Given the description of an element on the screen output the (x, y) to click on. 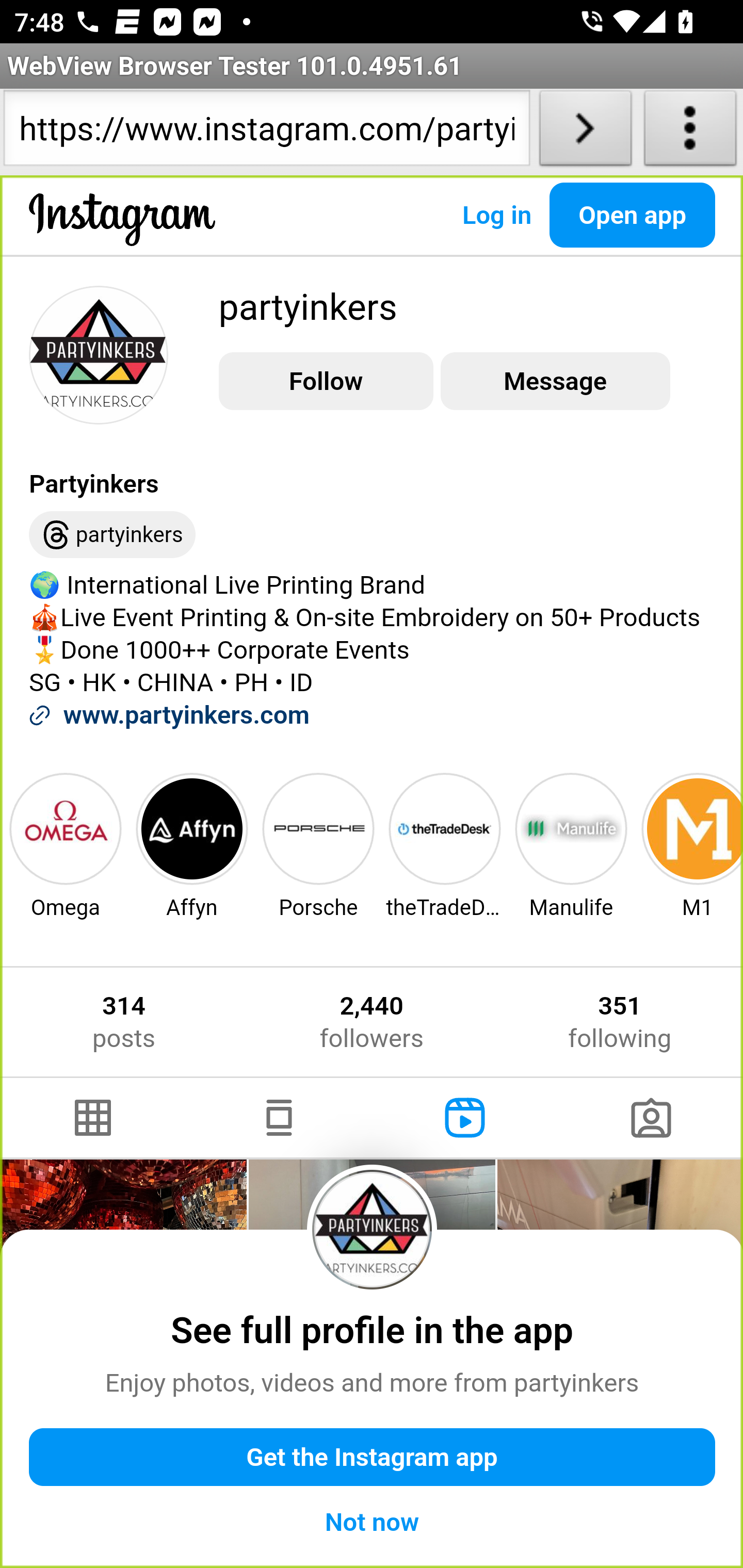
Load URL (585, 132)
About WebView (690, 132)
Log in (495, 214)
Open app (632, 214)
Instagram Instagram Instagram Instagram (122, 234)
partyinkers's profile picture (98, 353)
Follow (325, 381)
Message (554, 381)
Threads partyinkers Threads partyinkers (112, 535)
www.partyinkers.com (185, 714)
M1's profile picture M1 M1's profile picture M1 (690, 844)
314 posts (124, 1021)
2,440 followers (371, 1021)
351 following (619, 1021)
Posts (93, 1117)
Feed (278, 1117)
Reels (465, 1117)
Tagged (649, 1117)
partyinkers's profile picture (372, 1229)
Get the Instagram app (372, 1458)
Not now (372, 1521)
